Given the description of an element on the screen output the (x, y) to click on. 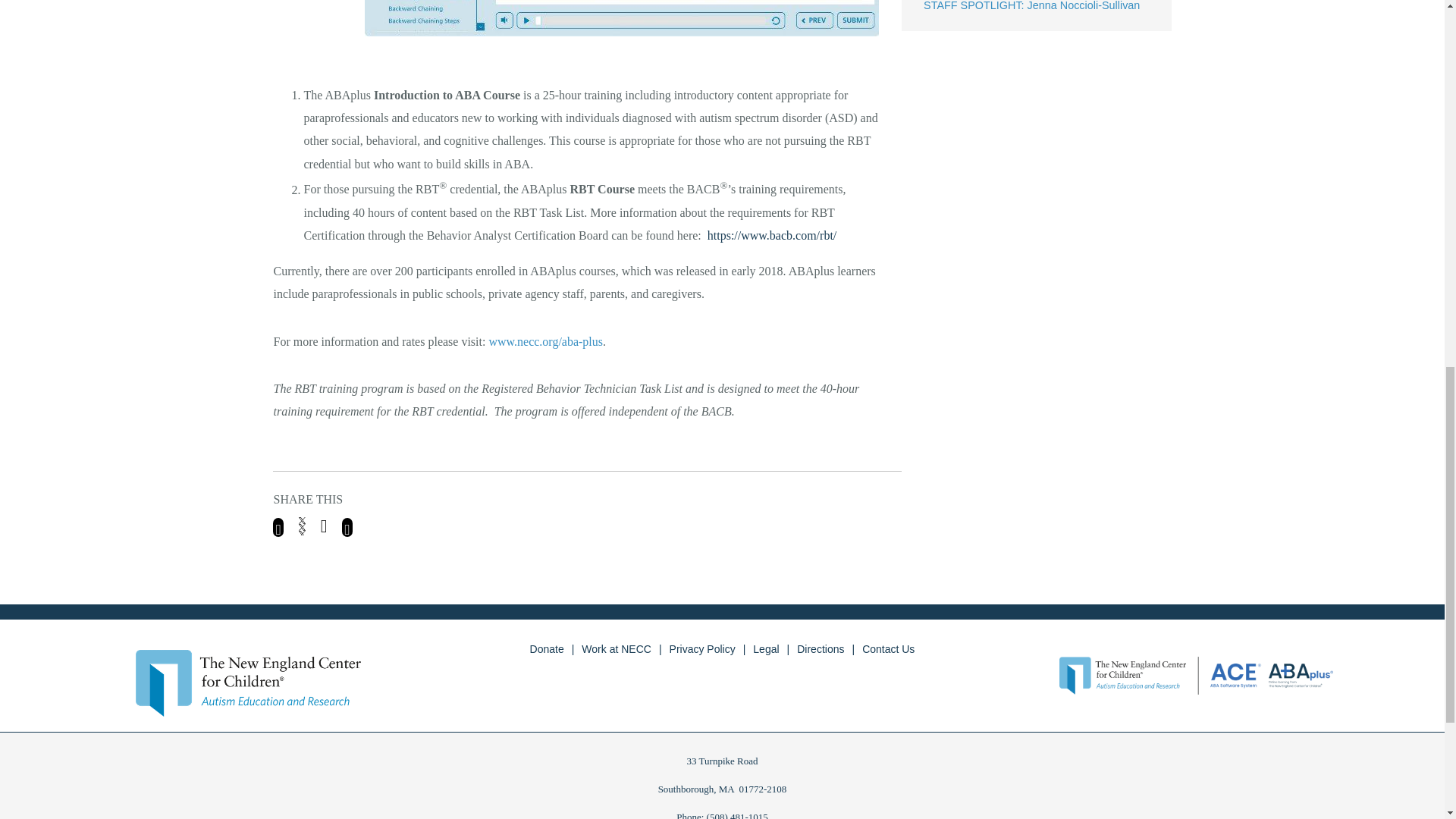
SHARE THIS (587, 514)
